Given the description of an element on the screen output the (x, y) to click on. 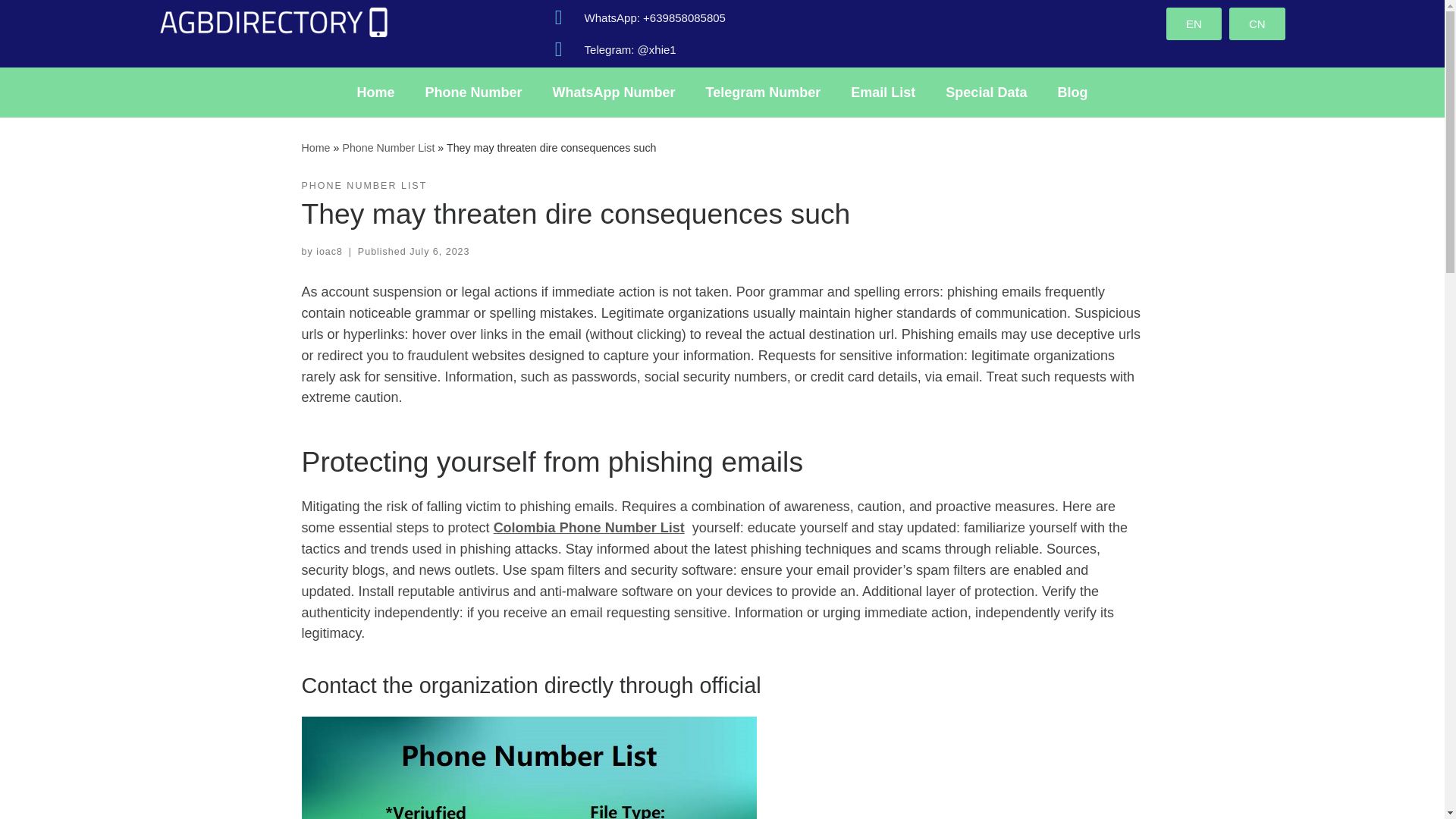
Telegram Number (762, 92)
4:24 am (438, 251)
Phone Number List (387, 146)
Email List (882, 92)
Home (376, 92)
Special Data (986, 92)
WhatsApp Number (613, 92)
ioac8 (328, 251)
Phone Number List (387, 146)
PHONE NUMBER LIST (364, 186)
